Given the description of an element on the screen output the (x, y) to click on. 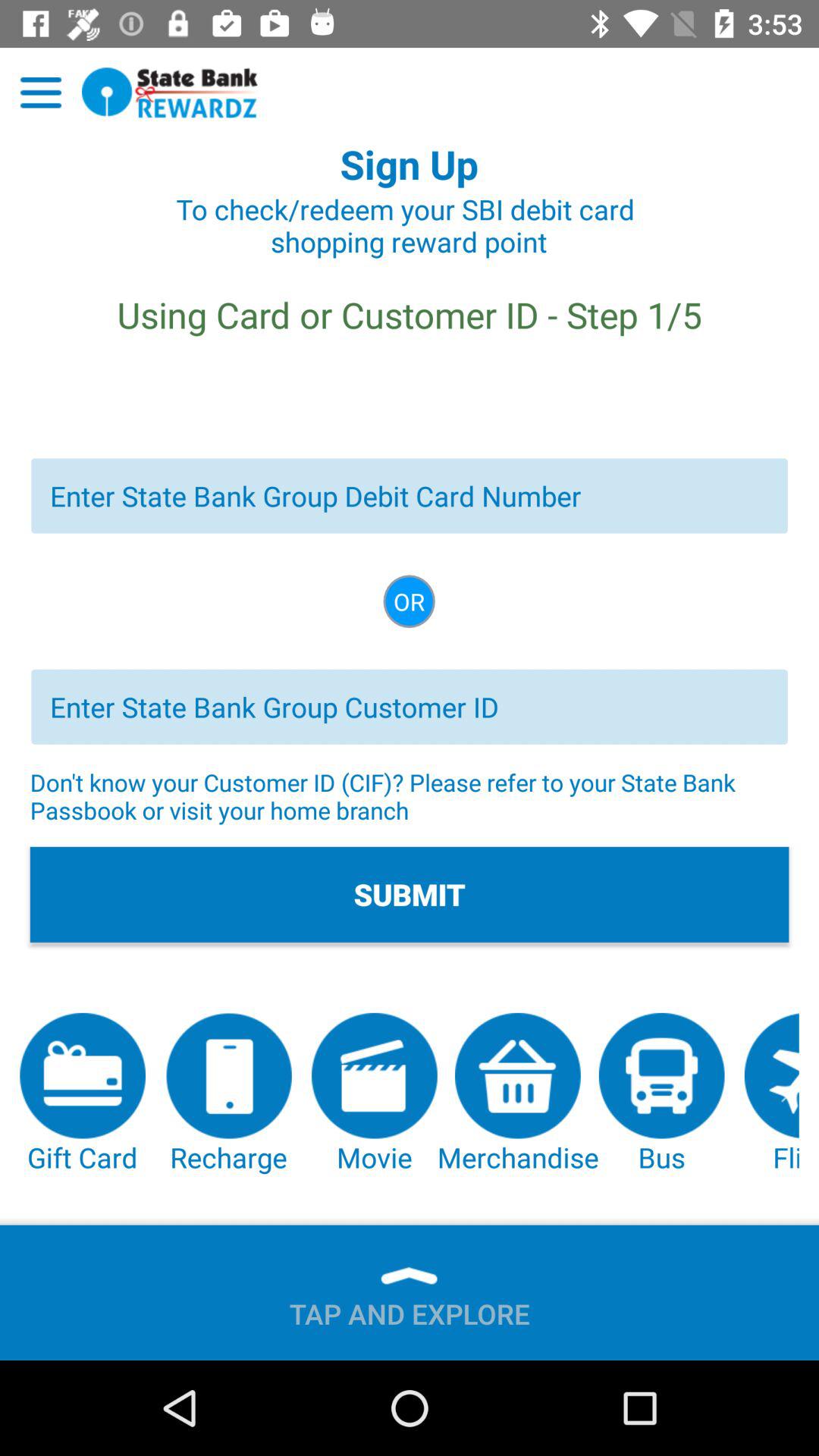
open app next to merchandise icon (374, 1094)
